Given the description of an element on the screen output the (x, y) to click on. 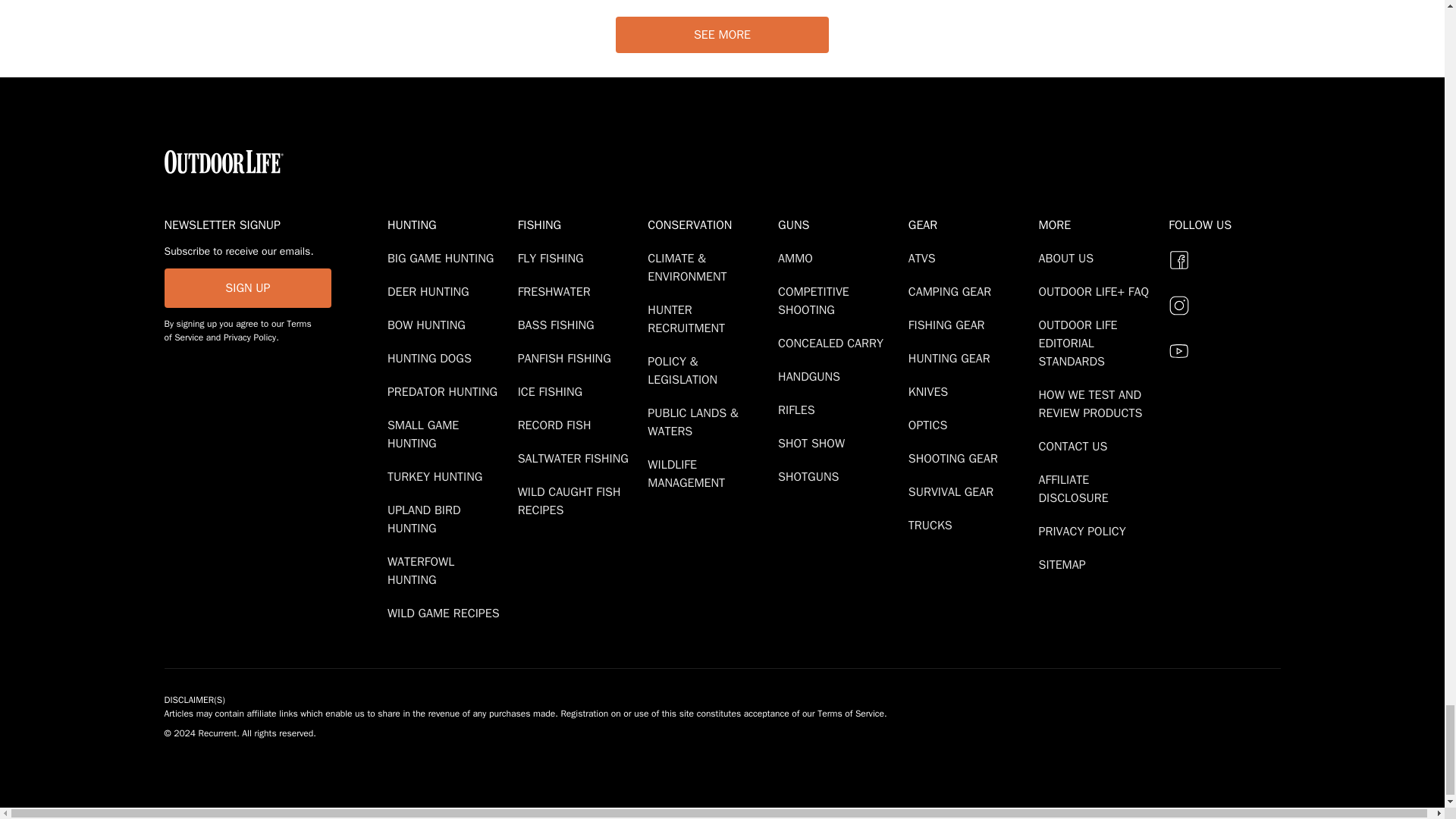
Fly Fishing (553, 258)
Hunting (449, 225)
Big Game Hunting (443, 258)
Deer Hunting (431, 291)
Conservation (709, 225)
Fishing (580, 225)
